Given the description of an element on the screen output the (x, y) to click on. 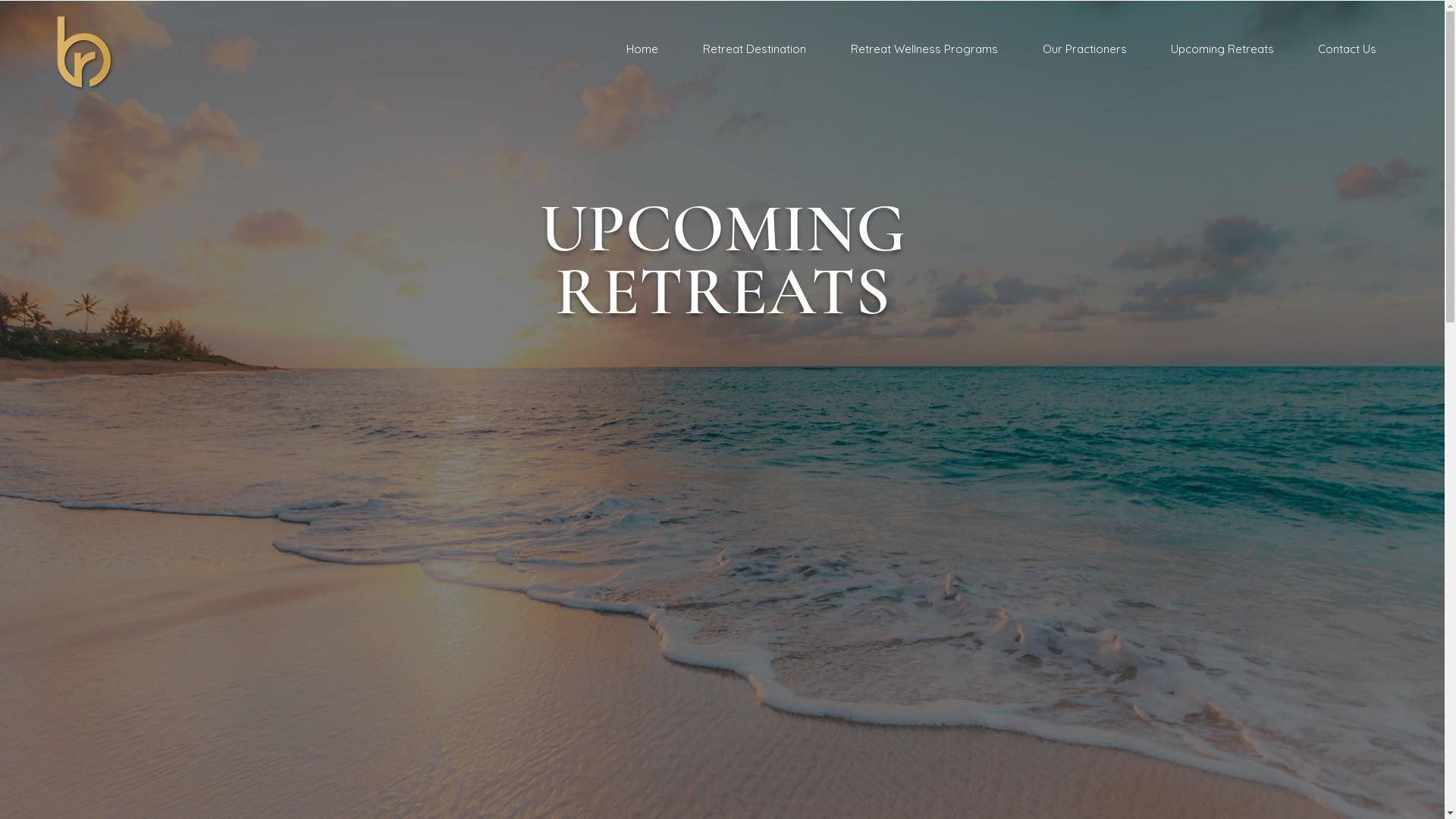
Home Element type: text (641, 49)
Upcoming Retreats Element type: text (1221, 49)
Retreat Destination Element type: text (754, 49)
Our Practioners Element type: text (1083, 49)
Retreat Wellness Programs Element type: text (923, 49)
Contact Us Element type: text (1346, 49)
